Given the description of an element on the screen output the (x, y) to click on. 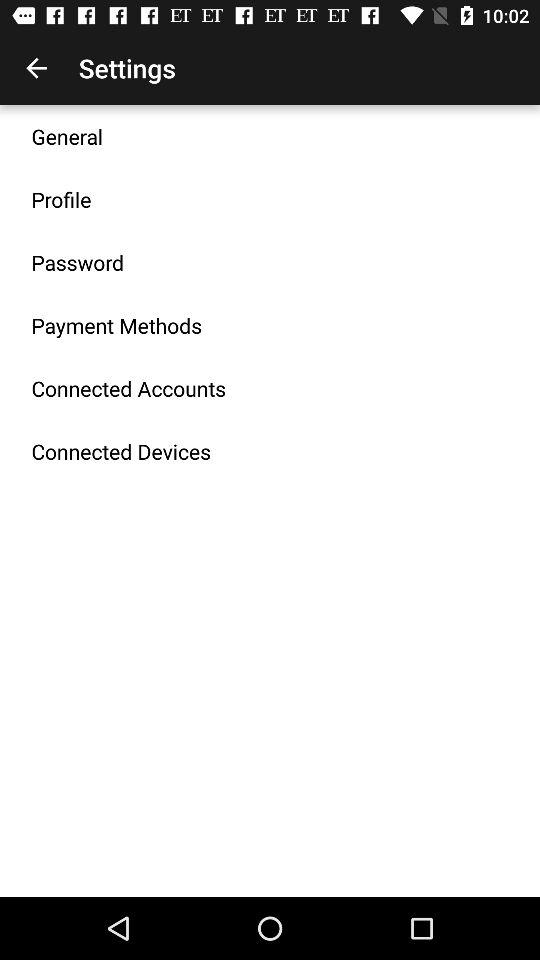
jump until the connected devices item (121, 451)
